Given the description of an element on the screen output the (x, y) to click on. 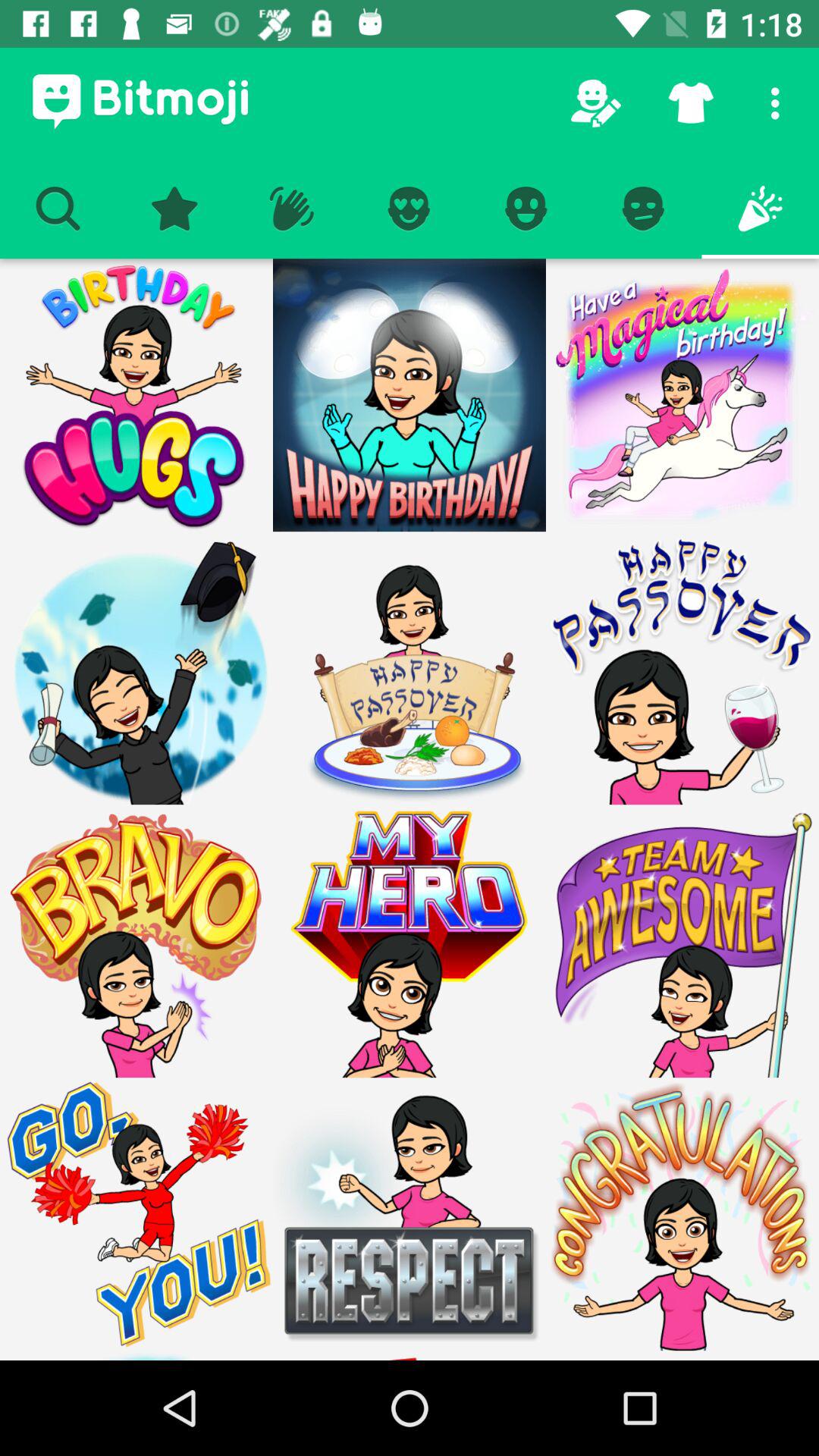
chooses the congratulations emoji (682, 1355)
